Given the description of an element on the screen output the (x, y) to click on. 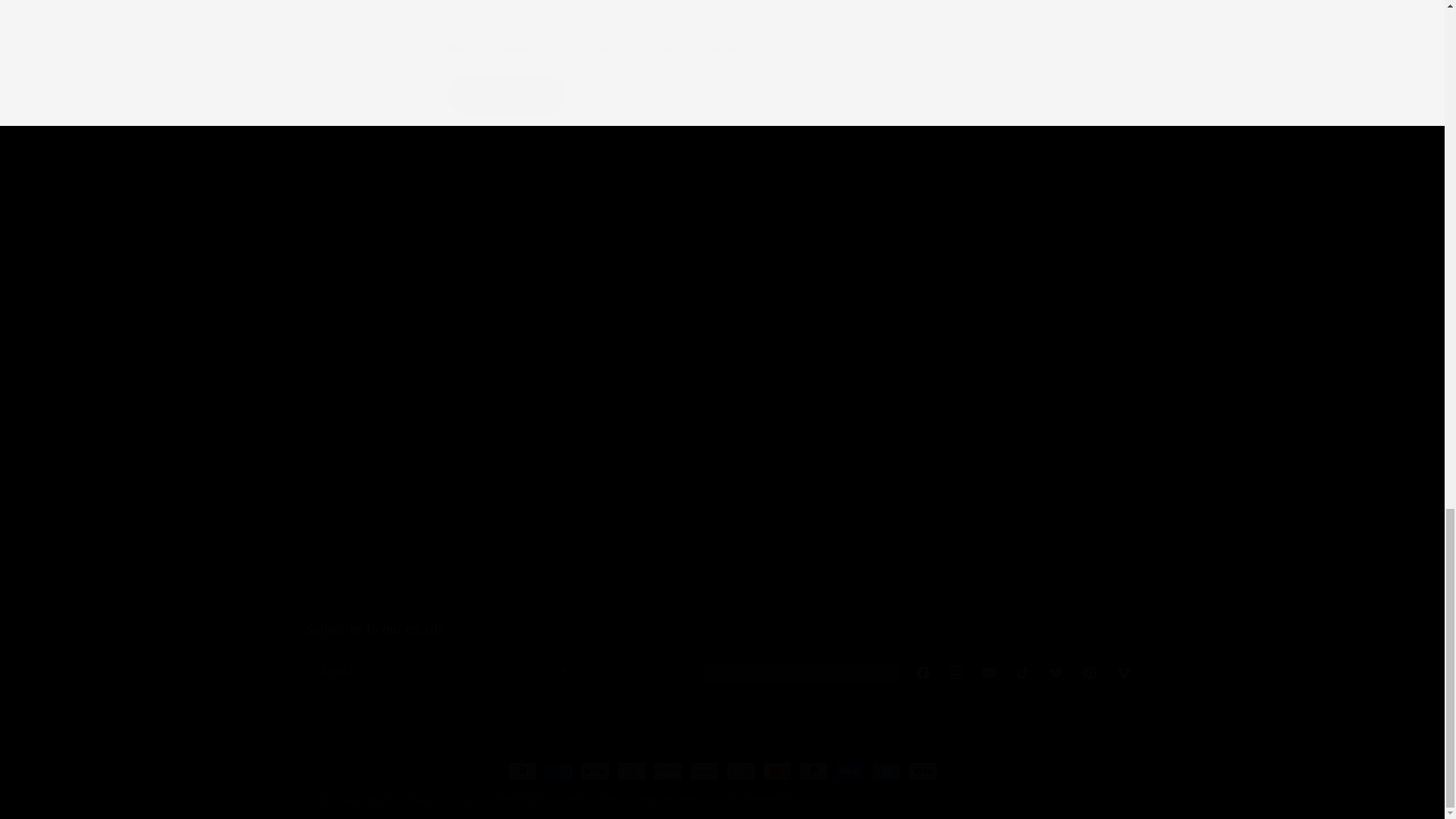
Post comment (506, 94)
